Given the description of an element on the screen output the (x, y) to click on. 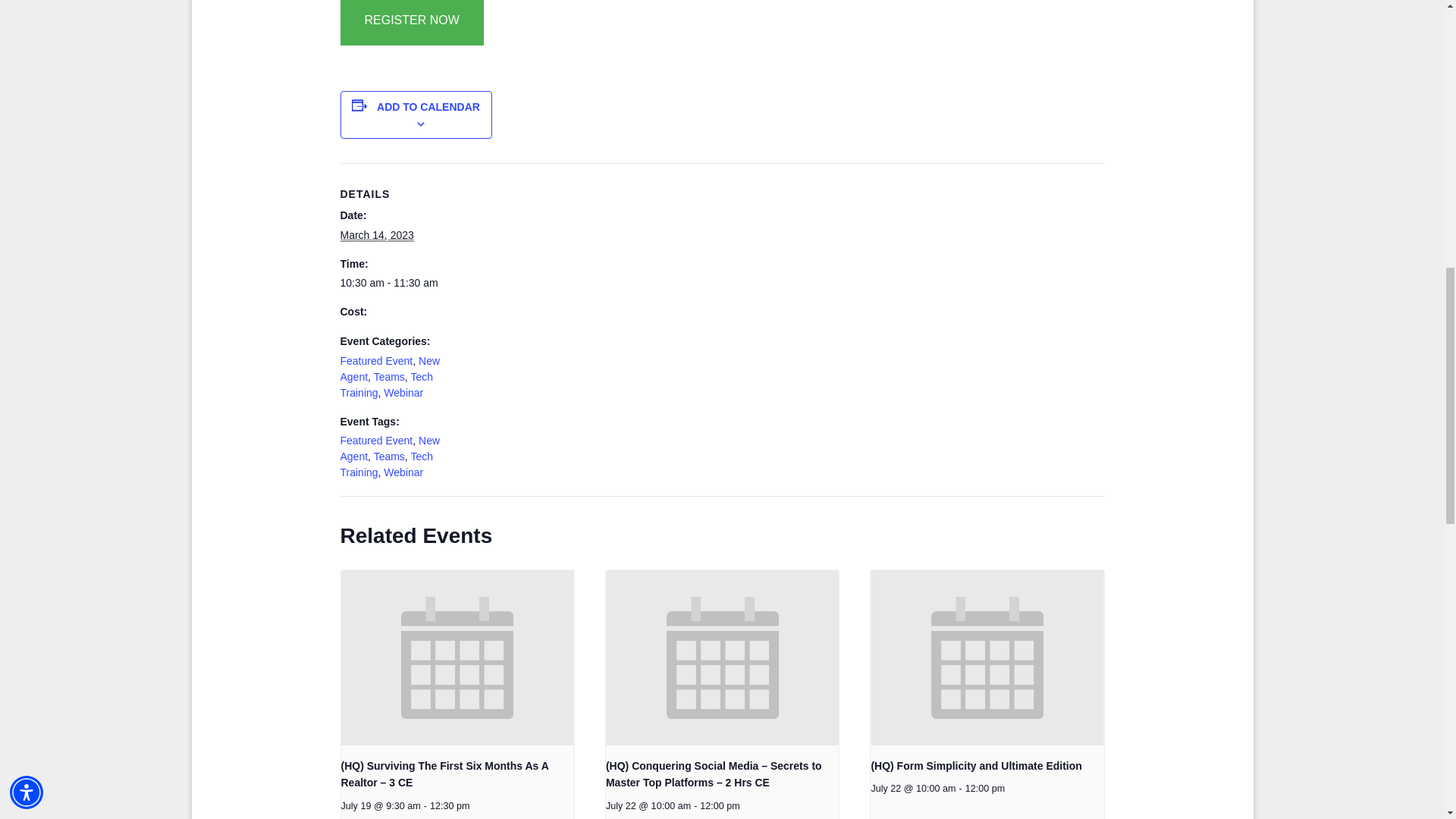
Register Now (411, 22)
